Given the description of an element on the screen output the (x, y) to click on. 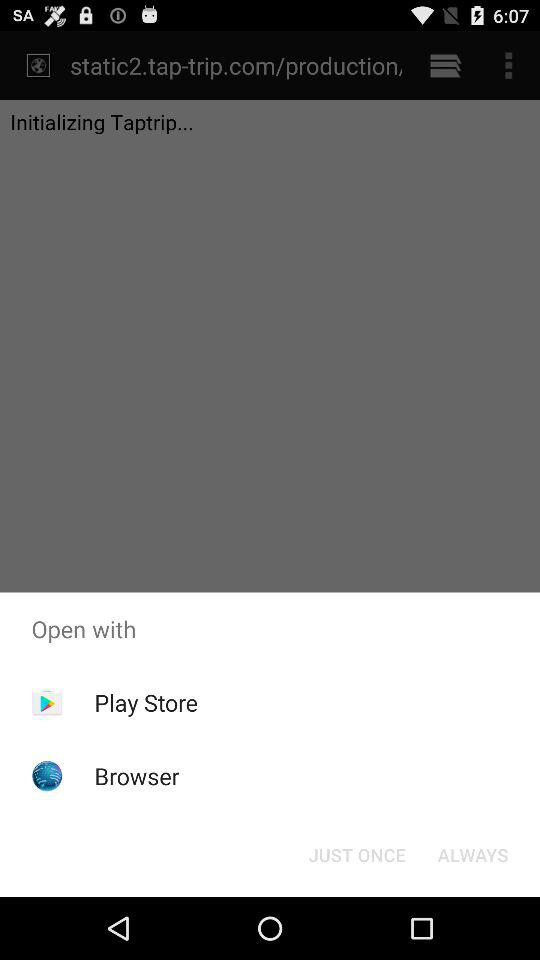
scroll to just once item (356, 854)
